Given the description of an element on the screen output the (x, y) to click on. 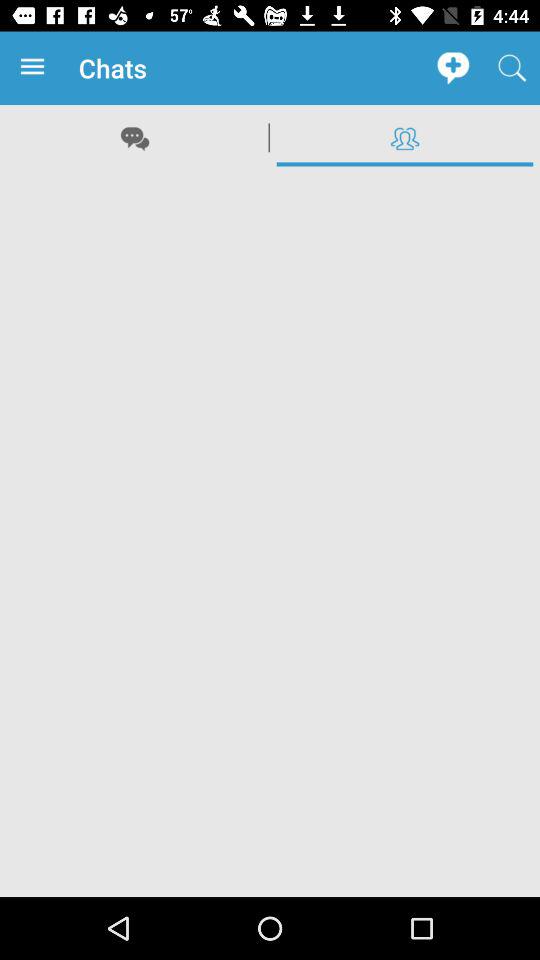
launch the app to the right of chats app (452, 67)
